Given the description of an element on the screen output the (x, y) to click on. 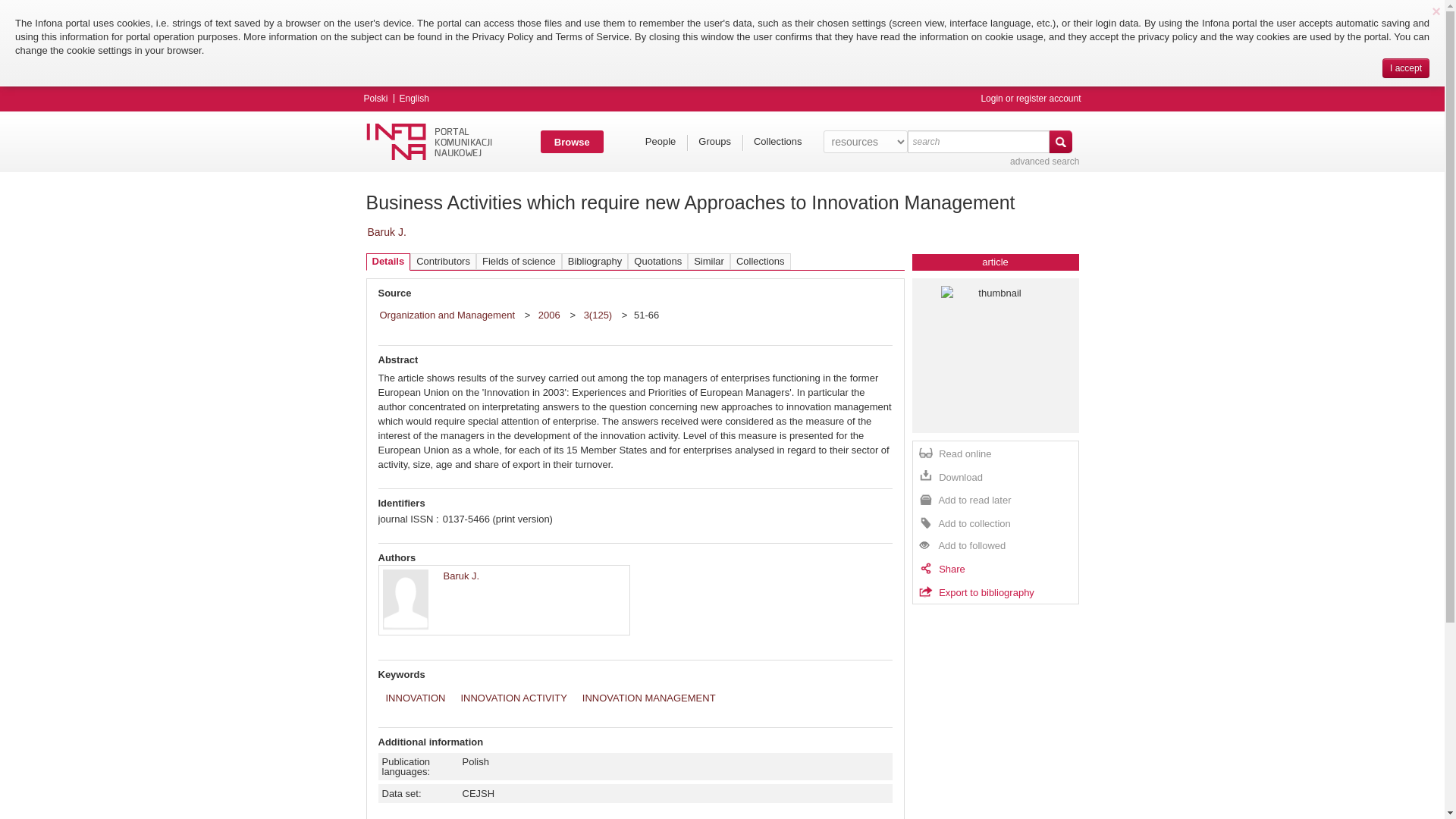
Collections (777, 141)
Contributors (443, 261)
password recovery (1000, 99)
advanced search (1044, 161)
Details (387, 262)
Groups (714, 141)
People (659, 141)
Similar (708, 261)
Quotations (657, 261)
Browse (572, 141)
Bibliography (595, 261)
Organization and Management (447, 314)
2006 (550, 314)
English (413, 98)
on (871, 101)
